Given the description of an element on the screen output the (x, y) to click on. 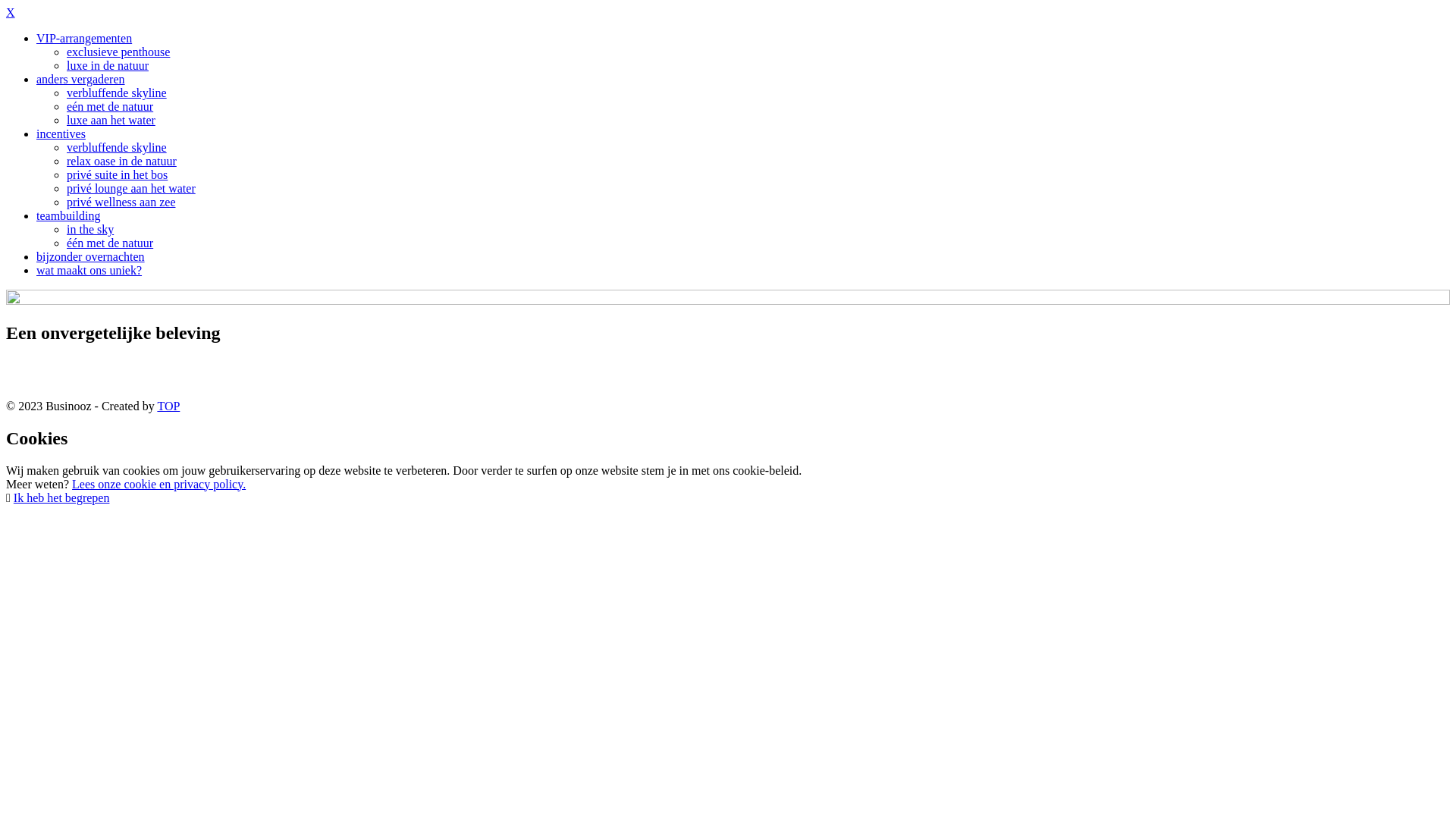
verbluffende skyline Element type: text (116, 92)
Ik heb het begrepen Element type: text (61, 497)
in the sky Element type: text (89, 228)
VIP-arrangementen Element type: text (83, 37)
X Element type: text (10, 12)
TOP Element type: text (167, 405)
incentives Element type: text (60, 133)
relax oase in de natuur Element type: text (121, 160)
luxe aan het water Element type: text (110, 119)
anders vergaderen Element type: text (80, 78)
teambuilding Element type: text (68, 215)
bijzonder overnachten Element type: text (90, 256)
Lees onze cookie en privacy policy. Element type: text (158, 483)
wat maakt ons uniek? Element type: text (88, 269)
verbluffende skyline Element type: text (116, 147)
exclusieve penthouse Element type: text (117, 51)
luxe in de natuur Element type: text (107, 65)
